Given the description of an element on the screen output the (x, y) to click on. 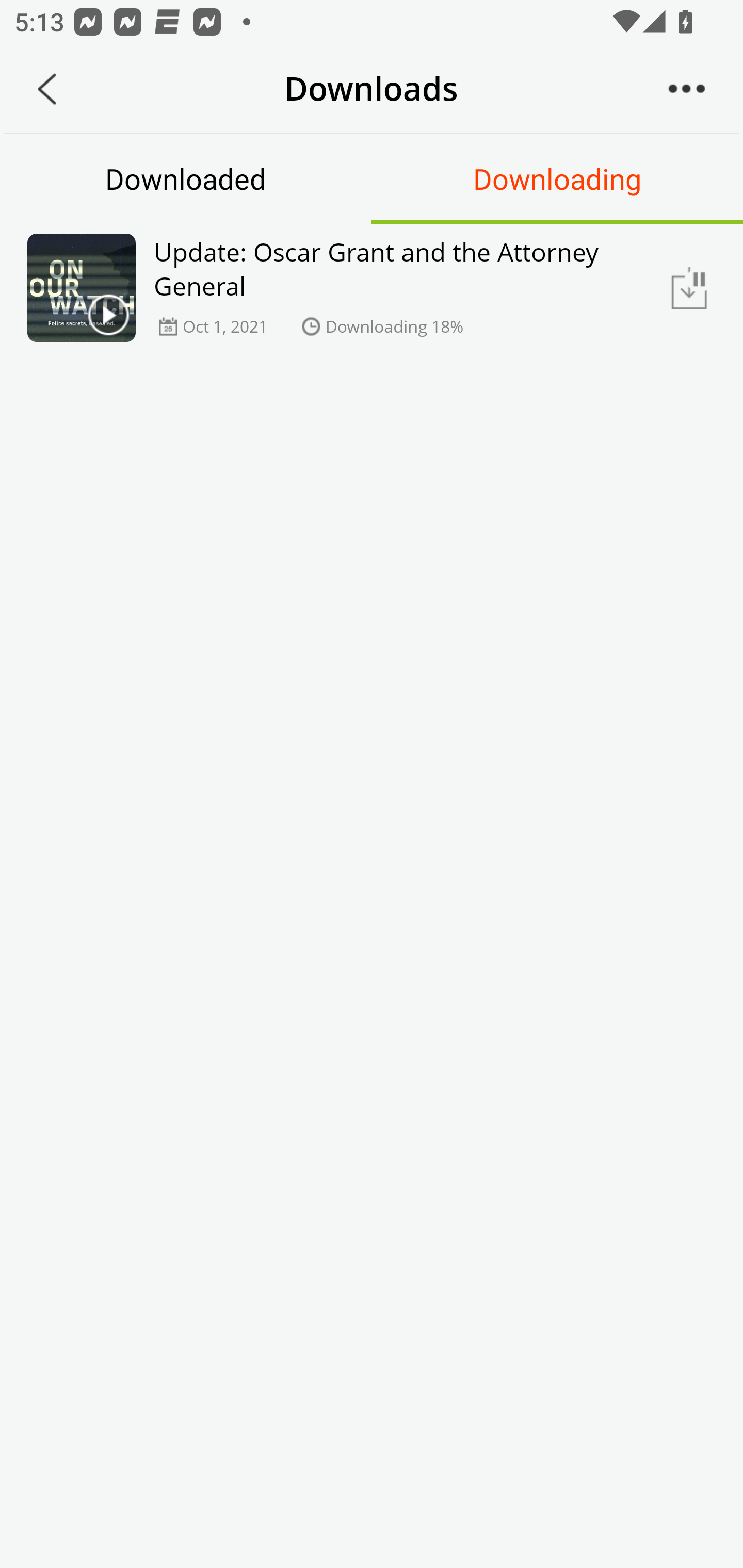
Back (46, 88)
Downloaded (185, 178)
